Given the description of an element on the screen output the (x, y) to click on. 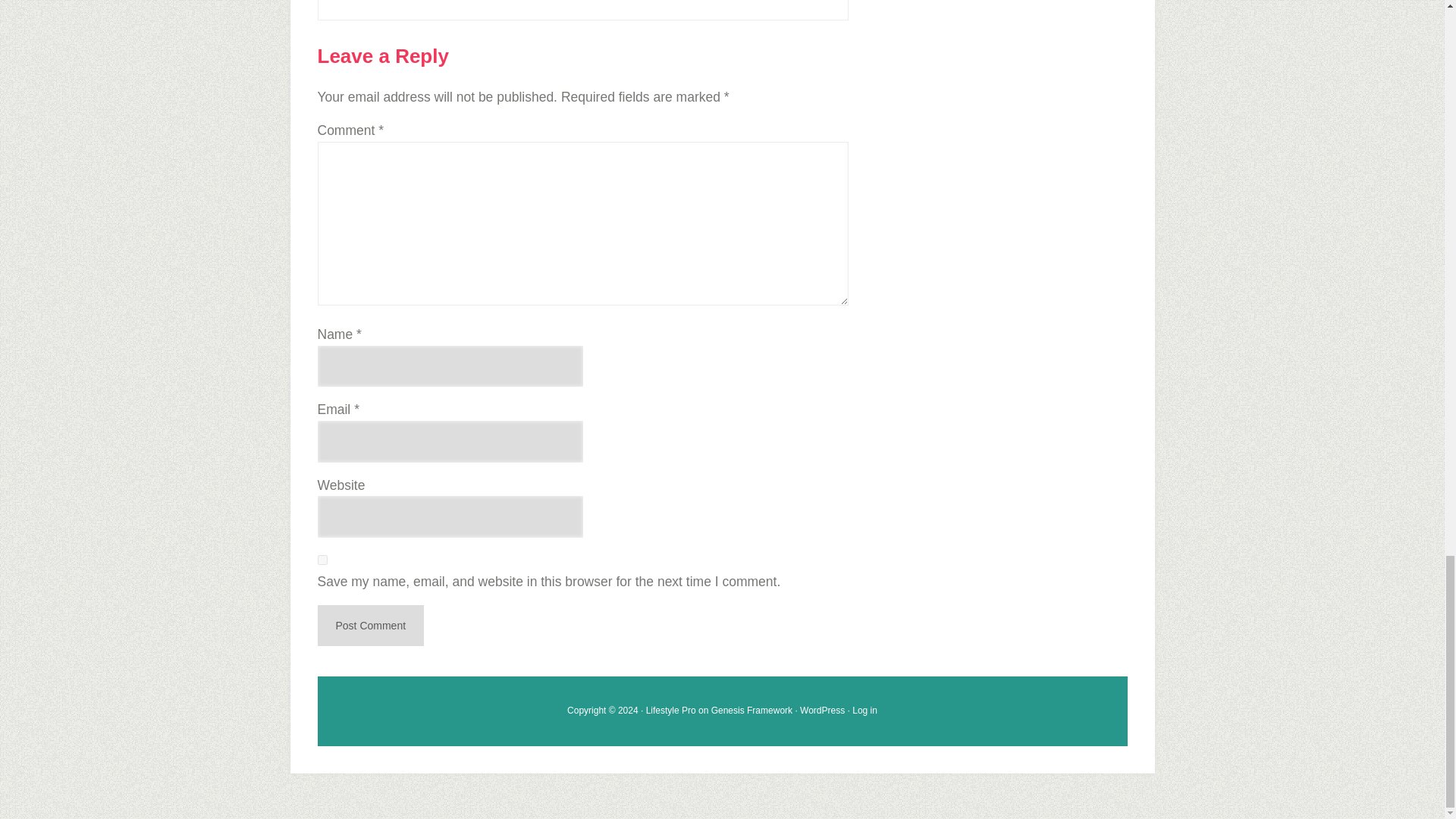
Log in (864, 710)
Genesis Framework (751, 710)
yes (321, 560)
Lifestyle Pro (670, 710)
Post Comment (370, 626)
Post Comment (370, 626)
WordPress (821, 710)
